Given the description of an element on the screen output the (x, y) to click on. 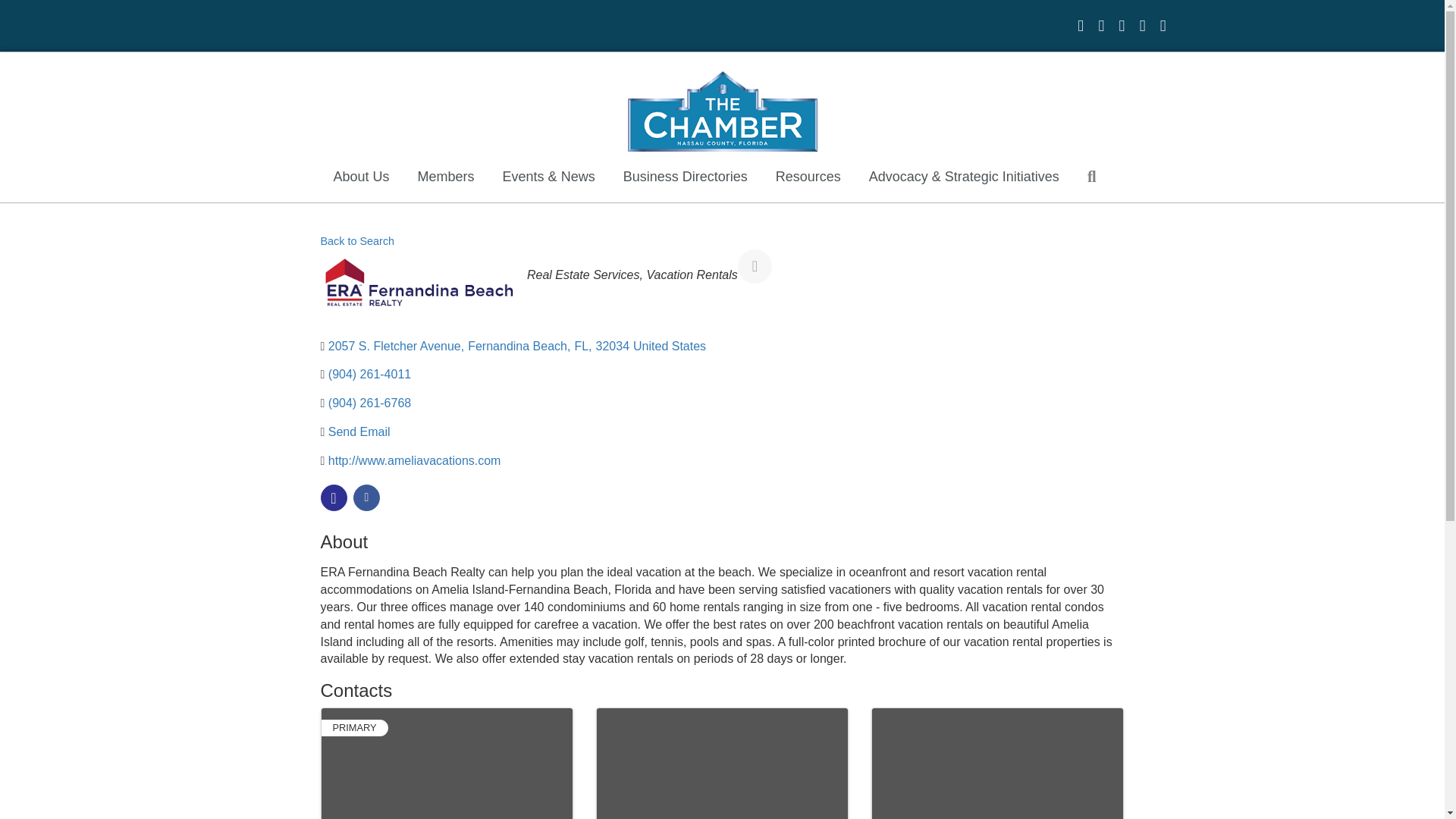
Nassau-County-FL-Chamber-logo (721, 111)
Business Directories (685, 176)
About Us (361, 176)
Members (445, 176)
